Given the description of an element on the screen output the (x, y) to click on. 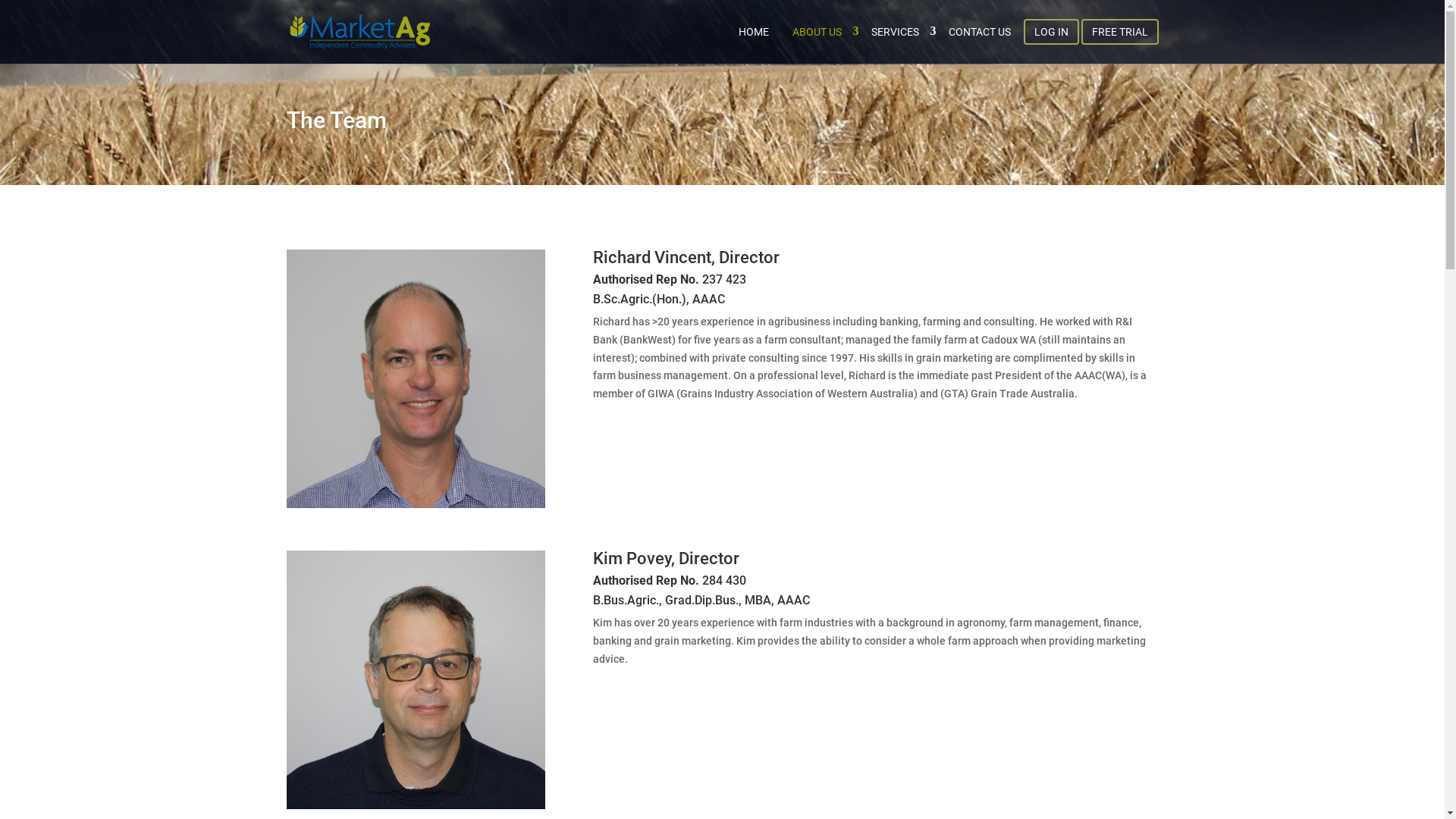
CONTACT US Element type: text (978, 31)
HOME Element type: text (753, 31)
SERVICES Element type: text (897, 31)
ABOUT US Element type: text (819, 31)
FREE TRIAL Element type: text (1119, 31)
LOG IN Element type: text (1051, 31)
